Given the description of an element on the screen output the (x, y) to click on. 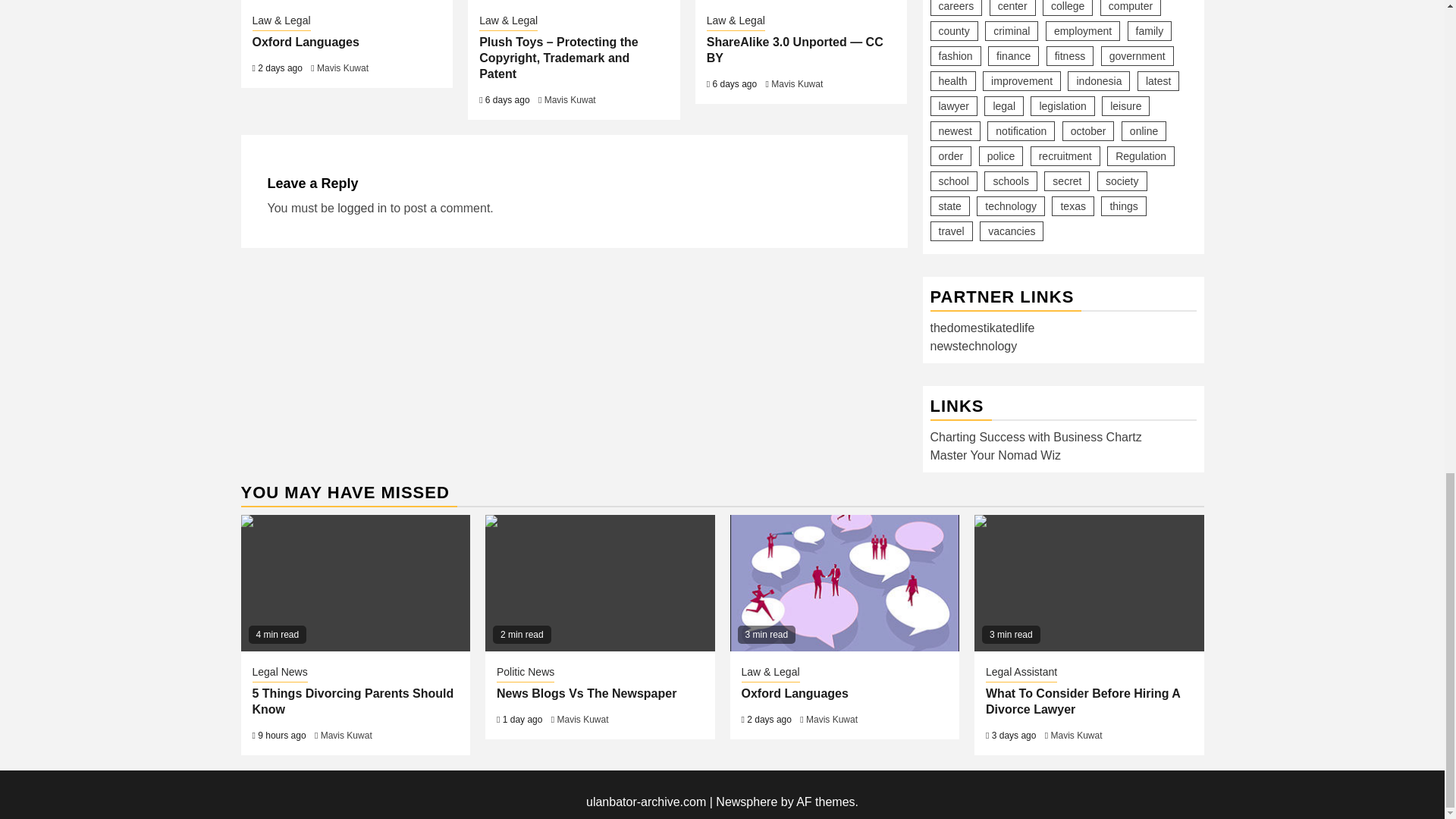
News Blogs Vs The Newspaper (599, 583)
Mavis Kuwat (569, 100)
Oxford Languages (304, 42)
Oxford Languages (844, 583)
5 Things Divorcing Parents Should Know (355, 583)
Mavis Kuwat (342, 68)
Mavis Kuwat (796, 83)
